Given the description of an element on the screen output the (x, y) to click on. 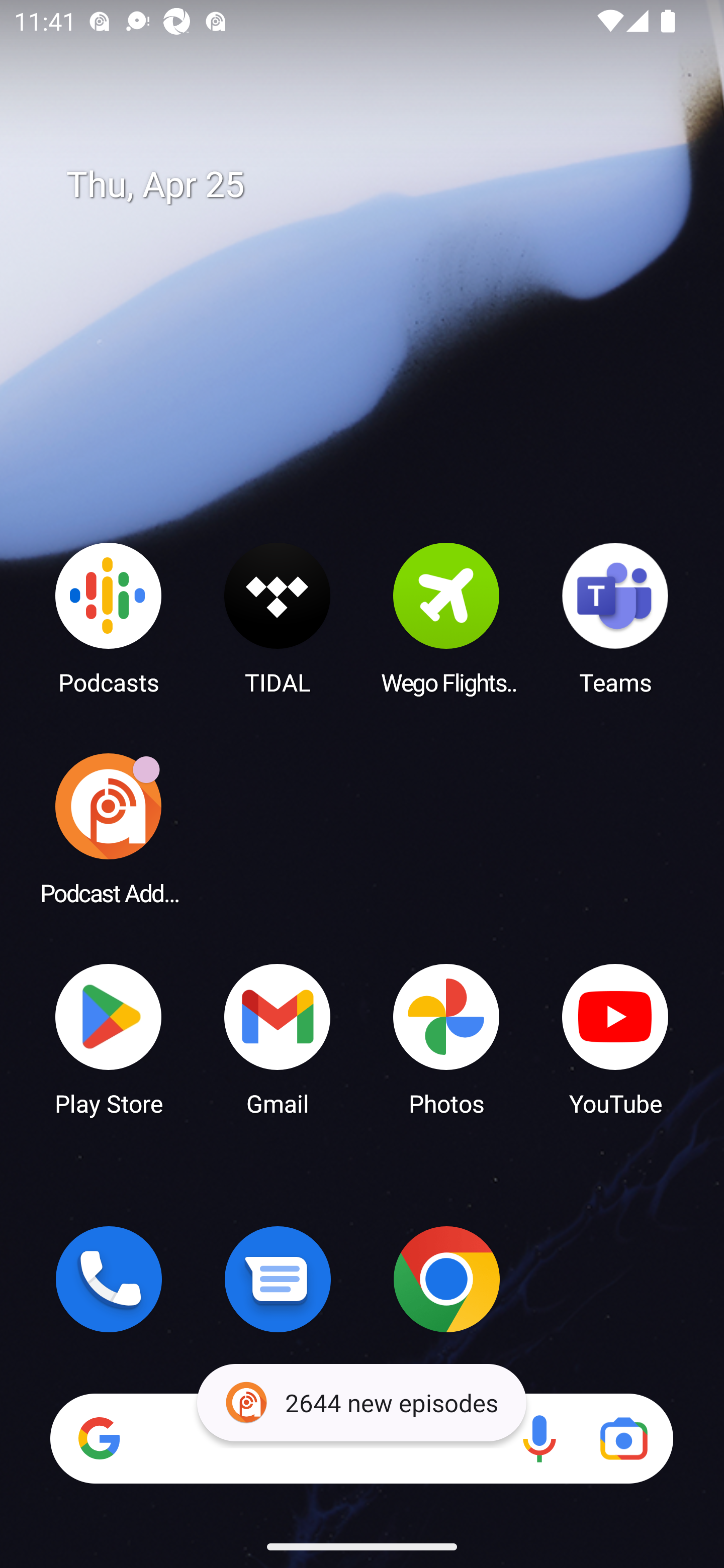
Thu, Apr 25 (375, 184)
Podcasts (108, 617)
TIDAL (277, 617)
Wego Flights & Hotels (445, 617)
Teams (615, 617)
Play Store (108, 1038)
Gmail (277, 1038)
Photos (445, 1038)
YouTube (615, 1038)
Phone (108, 1279)
Messages (277, 1279)
Chrome (446, 1279)
Search Voice search Google Lens (361, 1438)
Voice search (539, 1438)
Google Lens (623, 1438)
